Given the description of an element on the screen output the (x, y) to click on. 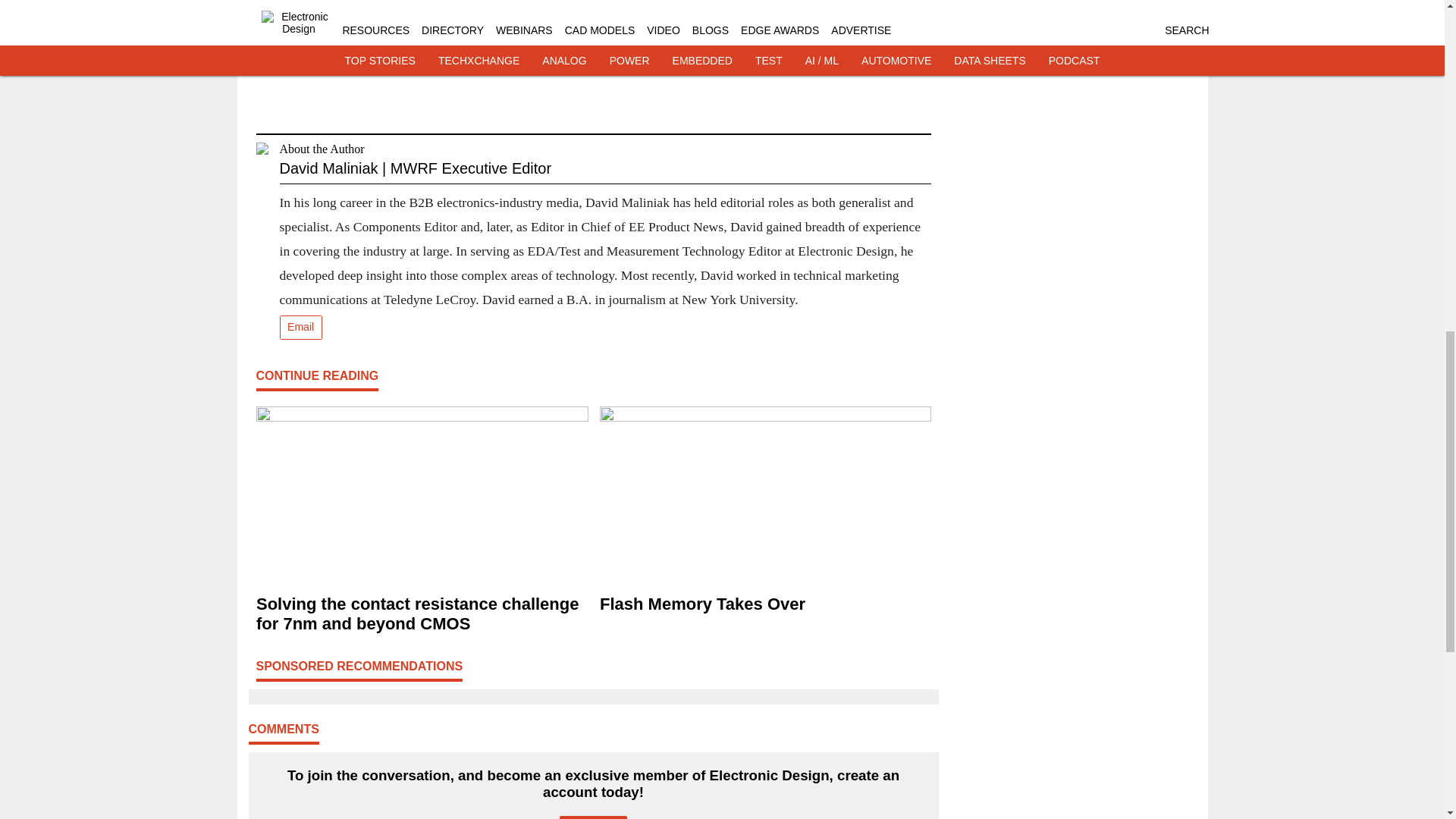
Flash Memory Takes Over (764, 604)
Join today! (593, 817)
Email (300, 327)
